Given the description of an element on the screen output the (x, y) to click on. 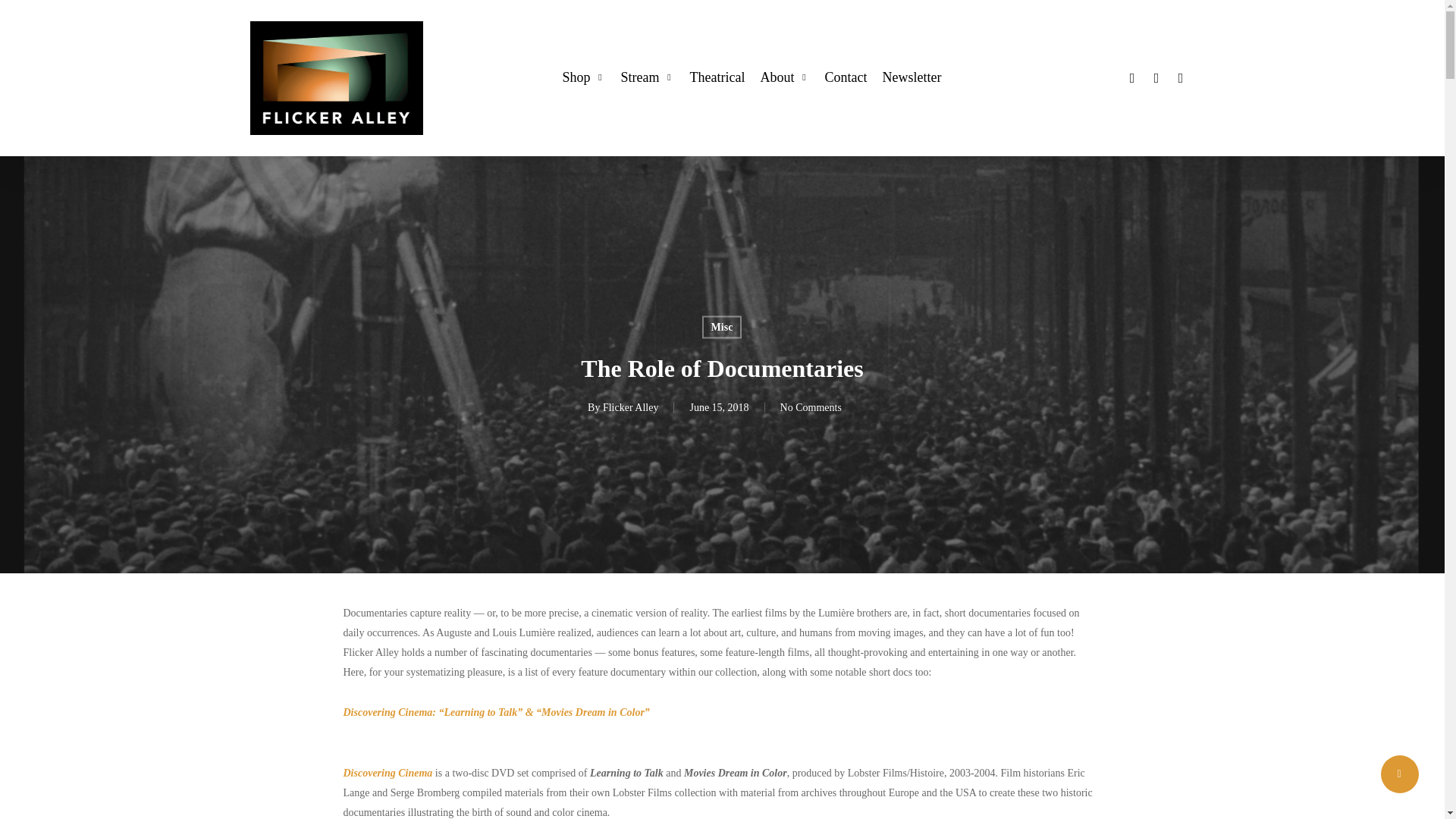
Discovering Cinema (387, 772)
Posts by Flicker Alley (630, 407)
No Comments (810, 407)
Flicker Alley (630, 407)
Misc (721, 326)
facebook (1156, 76)
instagram (1180, 76)
Newsletter (911, 76)
Contact (845, 76)
Theatrical (716, 76)
Stream (647, 76)
Shop (583, 76)
About (784, 76)
twitter (1131, 76)
